Given the description of an element on the screen output the (x, y) to click on. 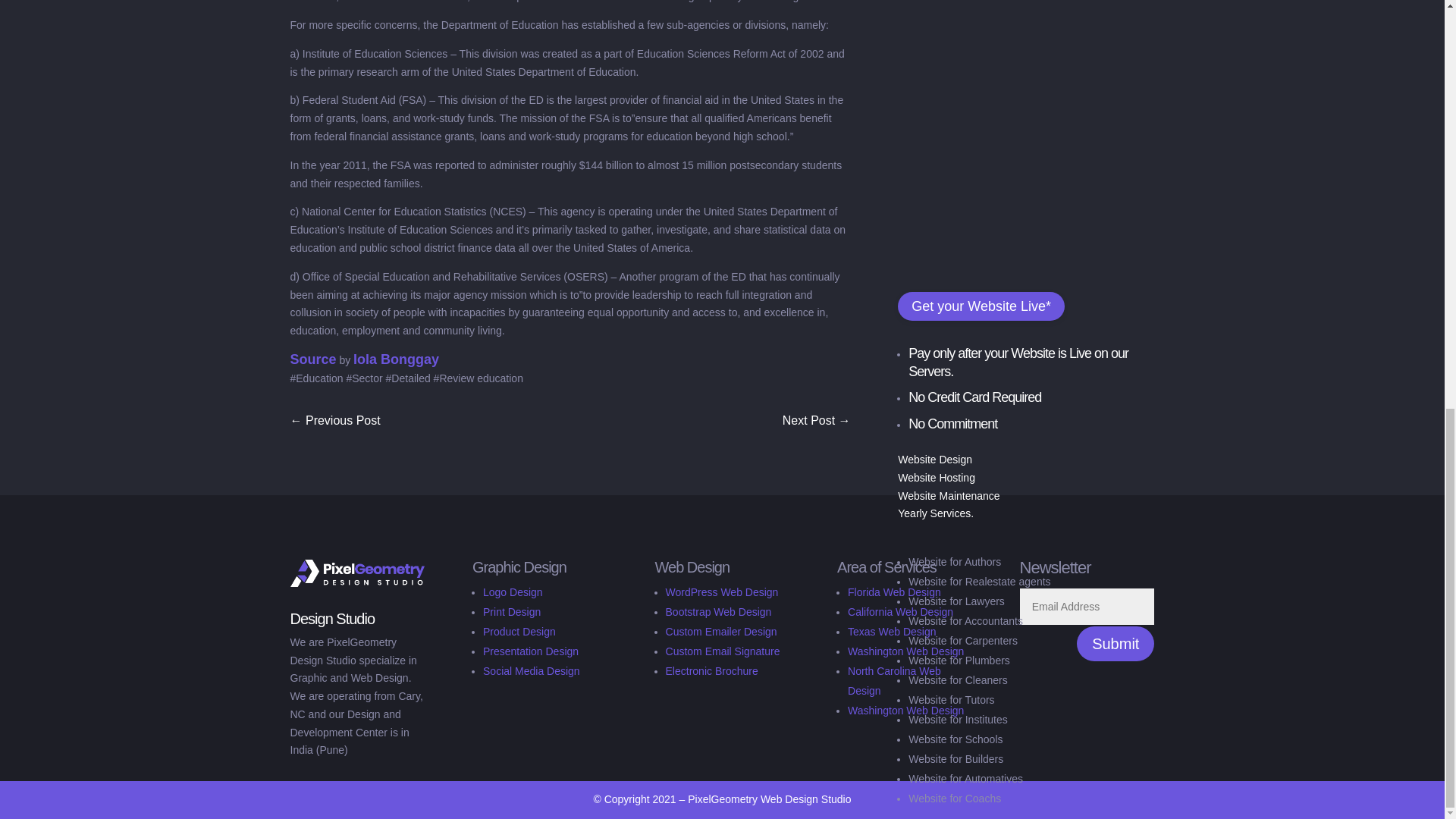
Presentation Design (530, 651)
Washington Web Design (905, 651)
Custom Email Signature (722, 651)
pixel-logo-132 (357, 573)
Source (312, 359)
Social Media Design (531, 671)
Iola Bonggay (396, 359)
North Carolina Web Design (893, 680)
Texas Web Design (891, 631)
Product Design (519, 631)
Logo Design (513, 592)
WordPress Web Design (721, 592)
Print Design (511, 612)
Custom Emailer Design (721, 631)
Florida Web Design (893, 592)
